Given the description of an element on the screen output the (x, y) to click on. 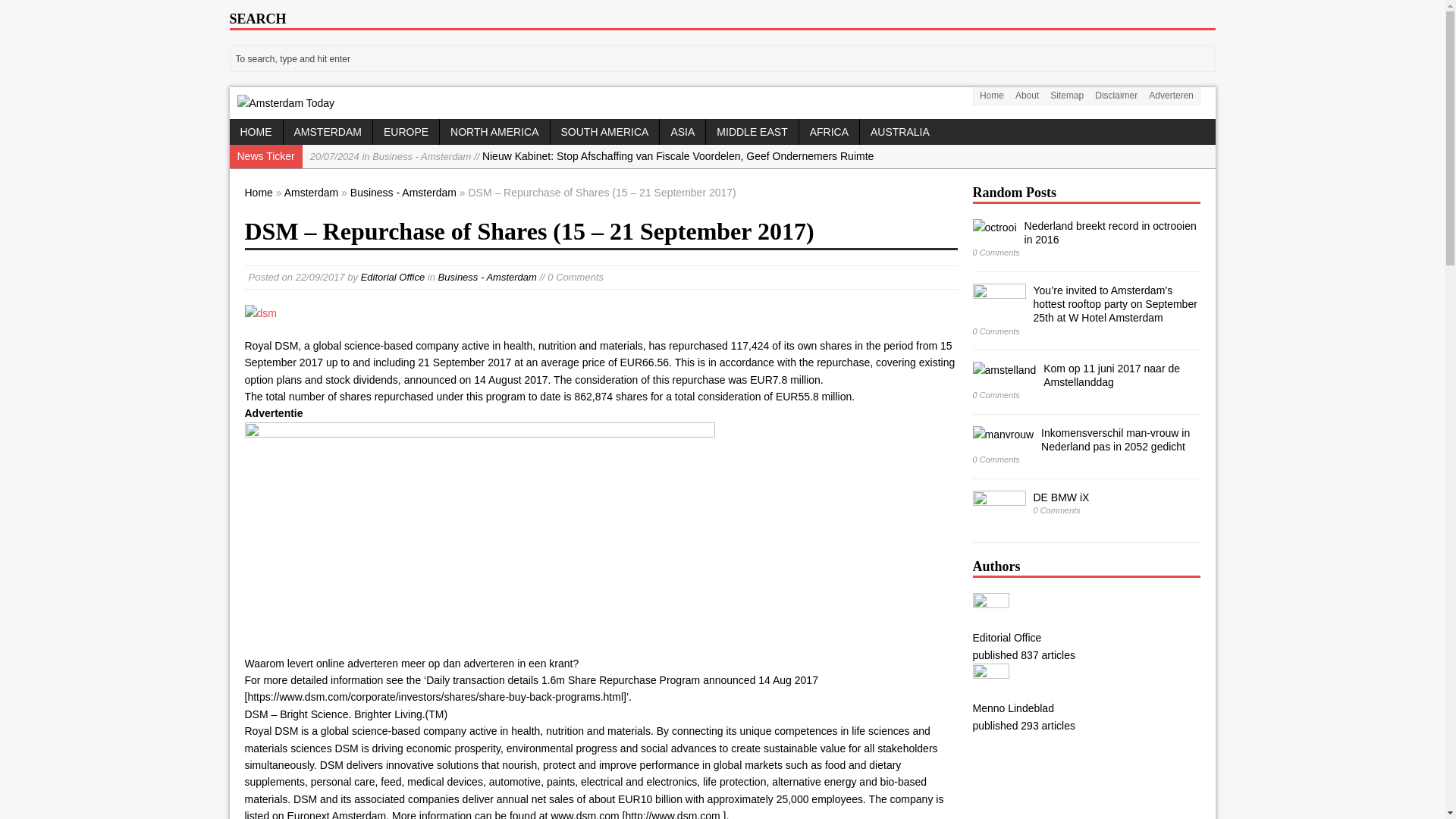
Home (991, 95)
To search, type and hit enter (722, 59)
EUROPE (405, 131)
NORTH AMERICA (493, 131)
About (1026, 95)
dsm (260, 312)
Disclaimer (1115, 95)
Sitemap (1067, 95)
Berichten van Editorial Office (393, 276)
AMSTERDAM (327, 131)
Amsterdam Today (284, 102)
SOUTH AMERICA (604, 131)
AUSTRALIA (900, 131)
MIDDLE EAST (751, 131)
ASIA (681, 131)
